Given the description of an element on the screen output the (x, y) to click on. 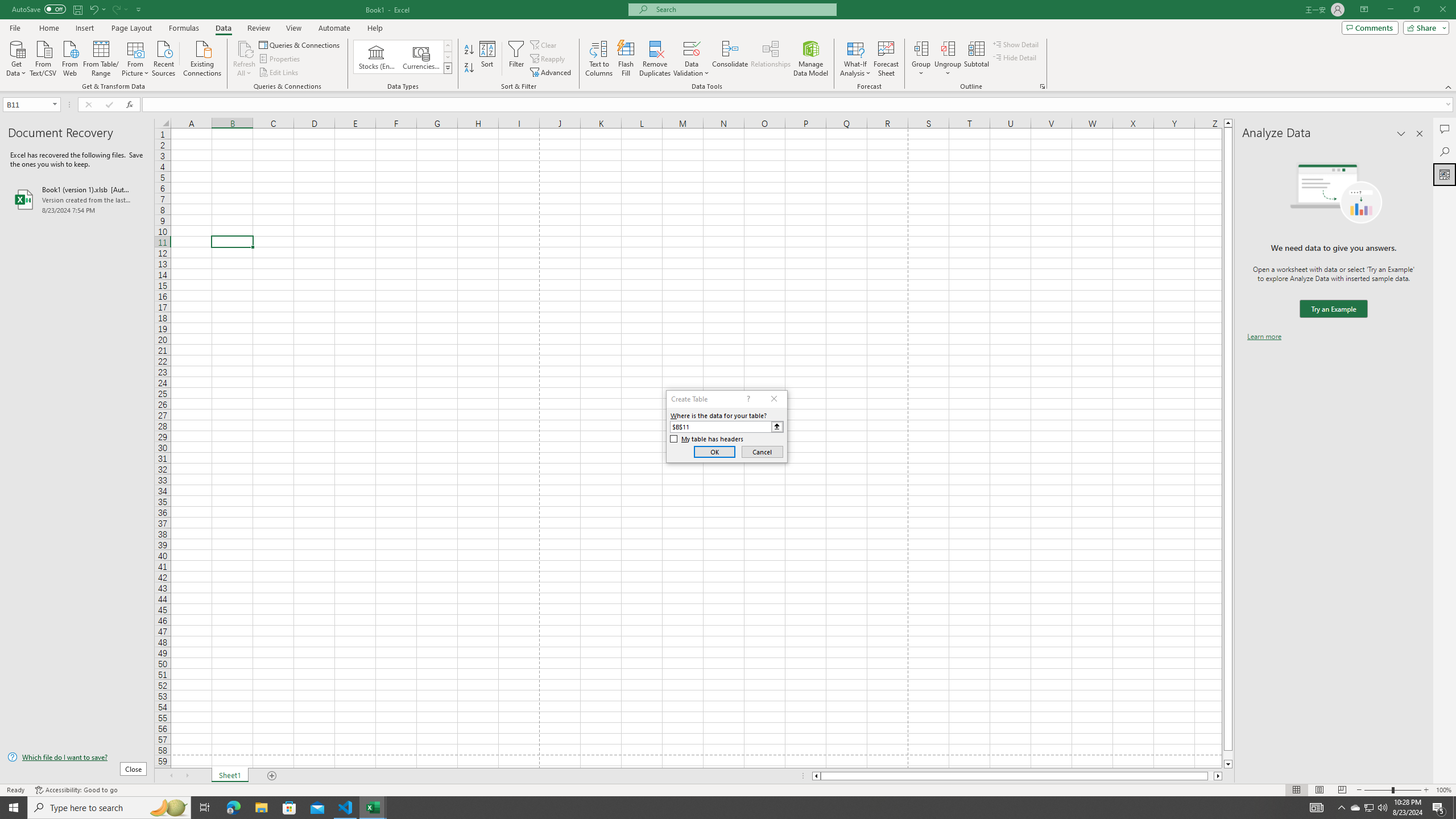
What-If Analysis (855, 58)
